Given the description of an element on the screen output the (x, y) to click on. 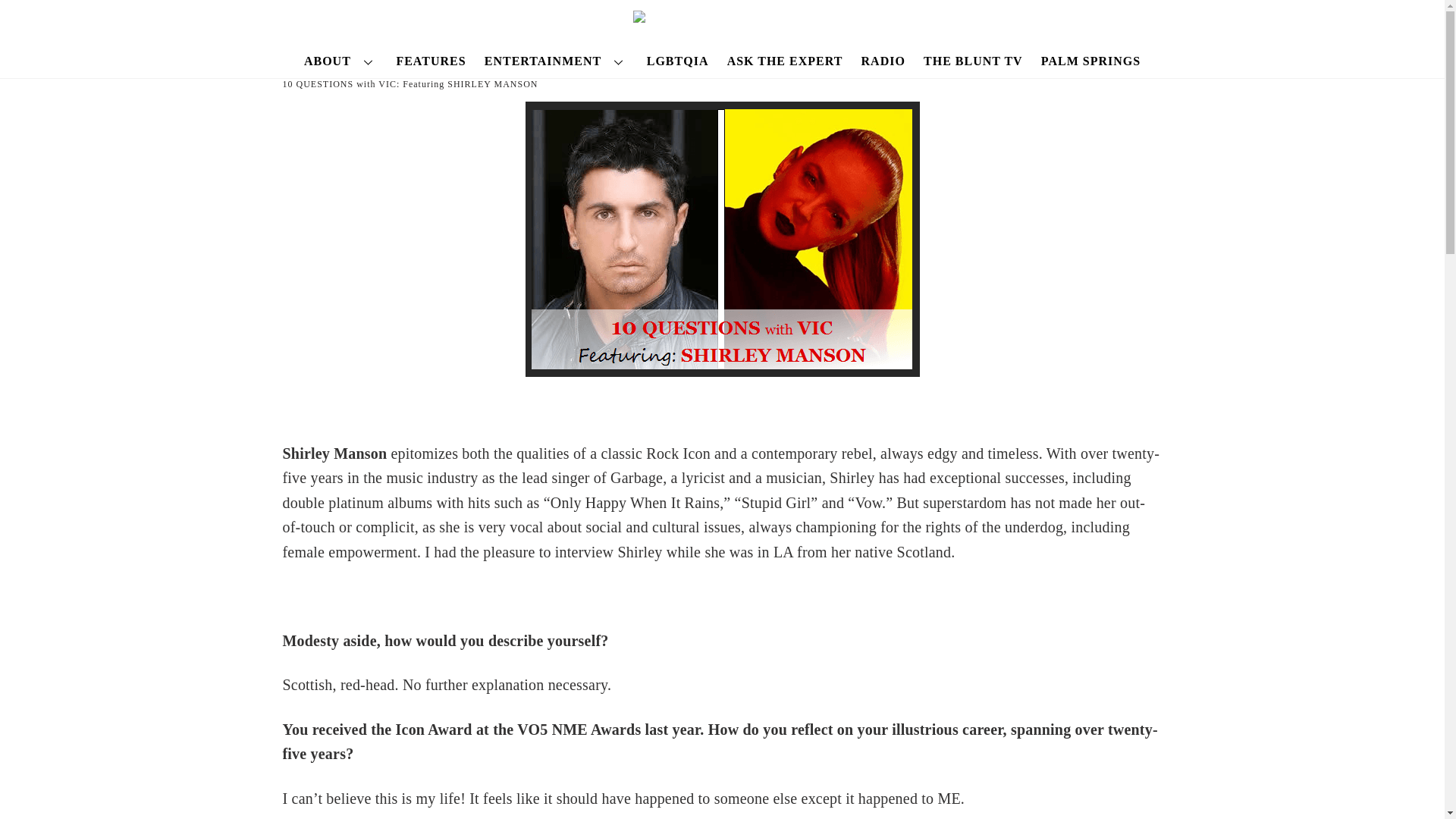
10 QUESTIONS with VIC: Featuring SHIRLEY MANSON (409, 83)
LGBTQIA (677, 61)
FEATURES (430, 61)
ASK THE EXPERT (784, 61)
THE BLUNT POST (722, 22)
ABOUT (341, 61)
ENTERTAINMENT (555, 61)
PALM SPRINGS (1090, 61)
THE BLUNT TV (972, 61)
